Given the description of an element on the screen output the (x, y) to click on. 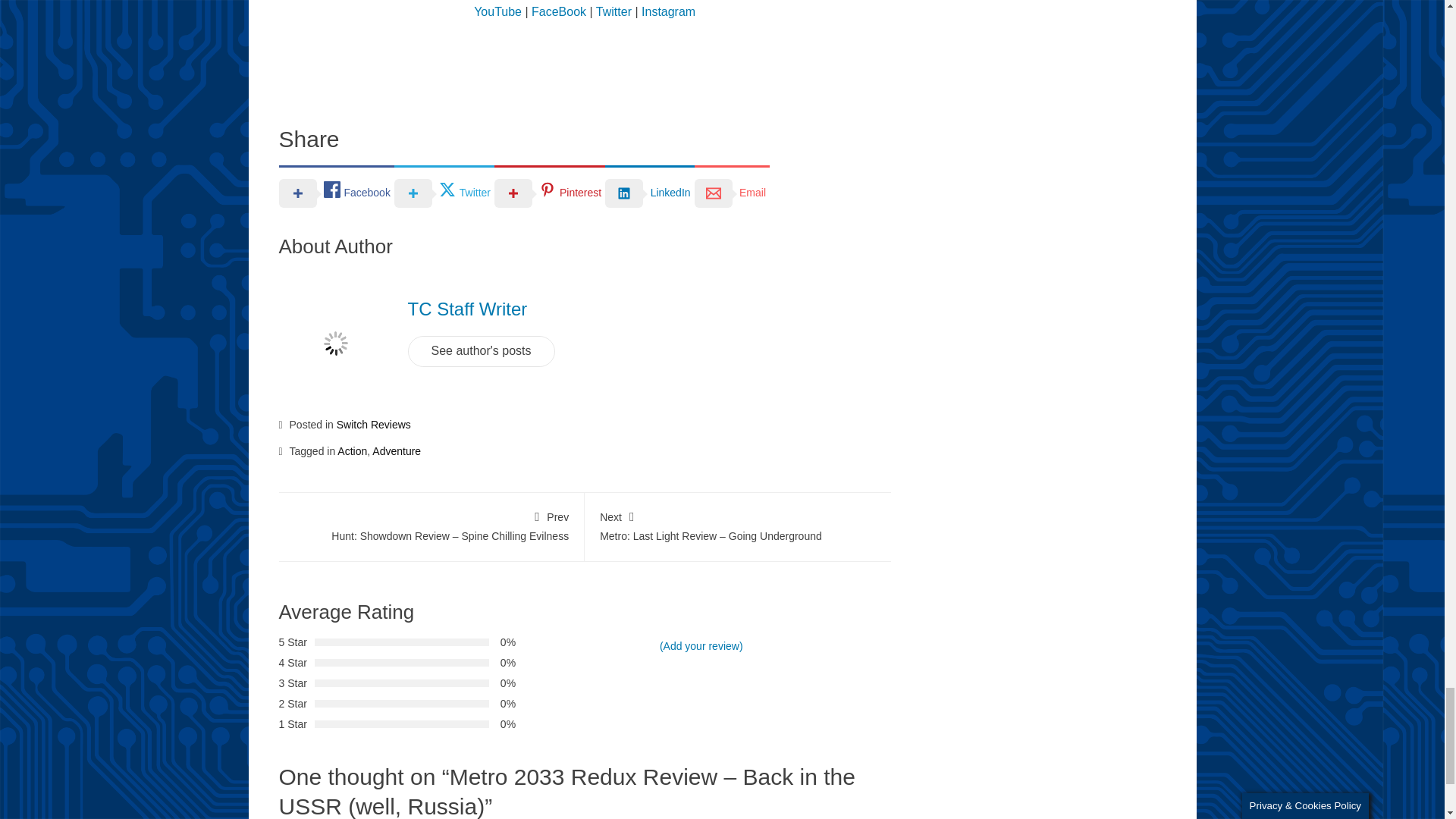
Email (732, 192)
Action (351, 451)
YouTube (497, 11)
Twitter (613, 11)
Twitter (444, 192)
FaceBook (558, 11)
Facebook (336, 192)
LinkedIn (649, 192)
TC Staff Writer (467, 308)
Instagram (668, 11)
See author's posts (480, 350)
Pinterest (550, 192)
Adventure (396, 451)
Switch Reviews (373, 424)
